Given the description of an element on the screen output the (x, y) to click on. 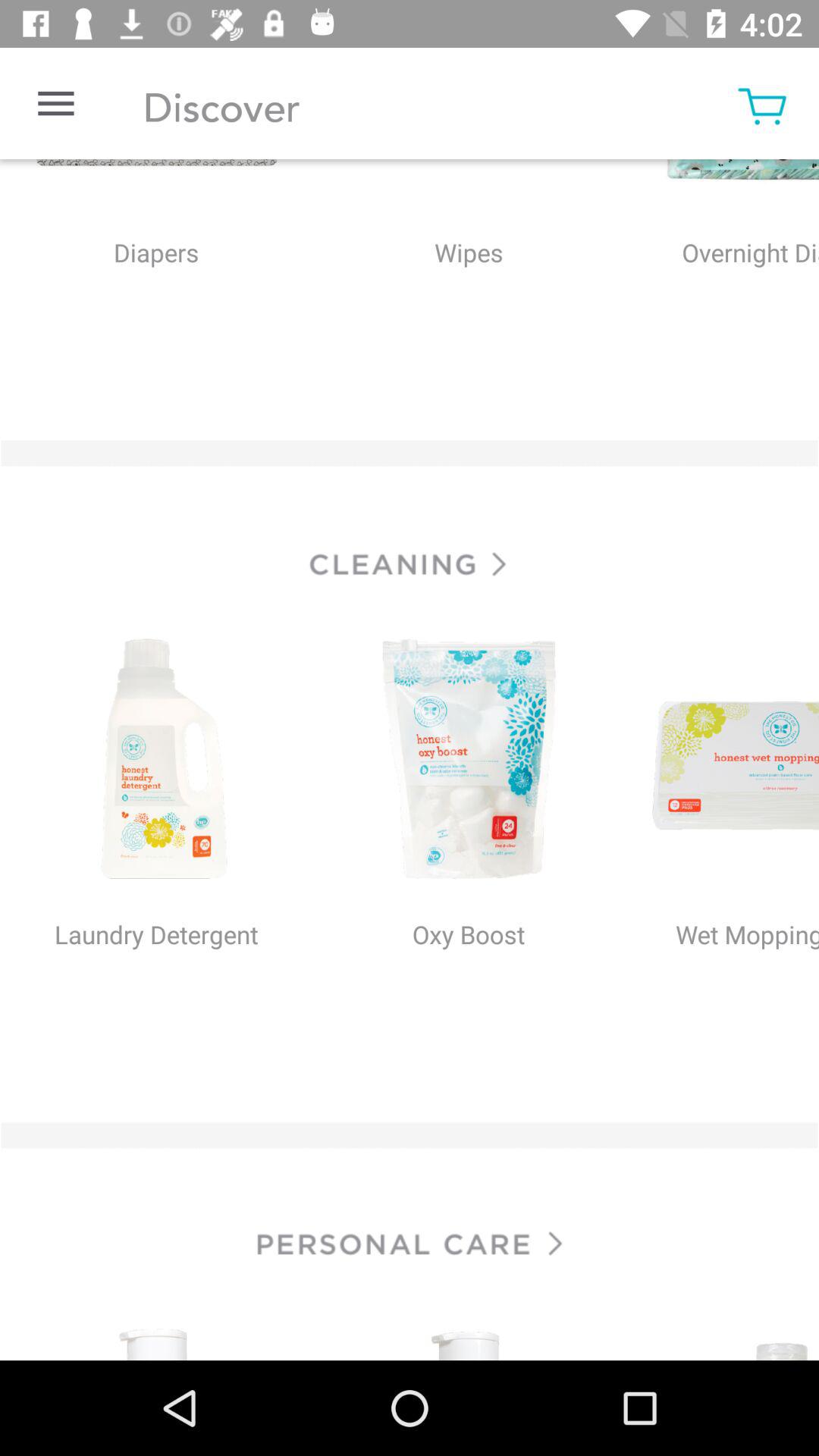
select the text wipes (468, 284)
select the picture which is above the text wet mopping (721, 761)
click on the text which is right to the wipes (726, 284)
click on the option which says laundry detergent (156, 966)
